Given the description of an element on the screen output the (x, y) to click on. 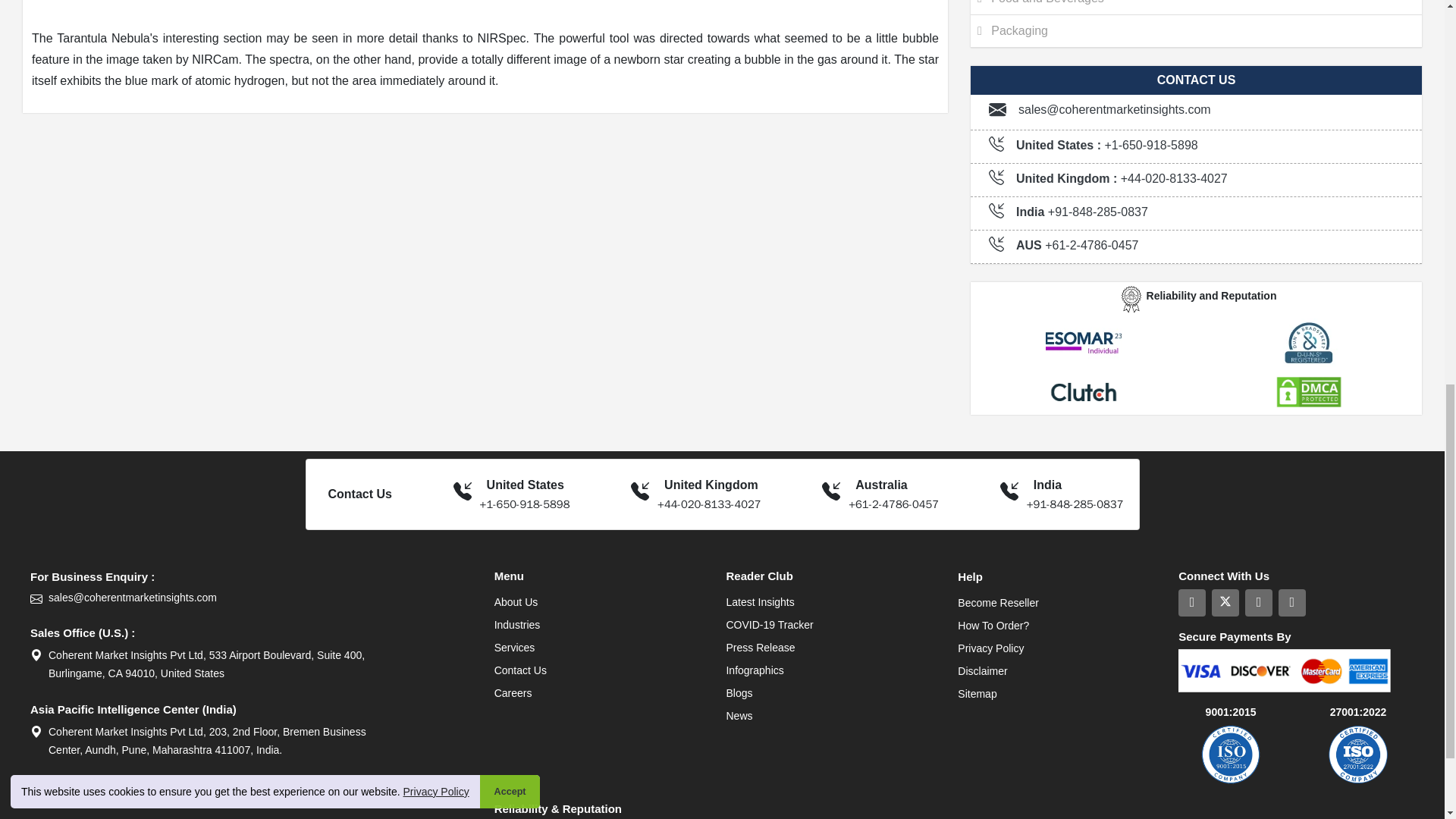
ISO 27001:2022 (1358, 753)
Logo (1131, 298)
Clutch (1083, 391)
DMCA Protected (1308, 391)
ISO 9001:2015 (1229, 753)
ESOMAR (1083, 342)
Payment Method (1283, 670)
DUNS Registered (1308, 342)
